Given the description of an element on the screen output the (x, y) to click on. 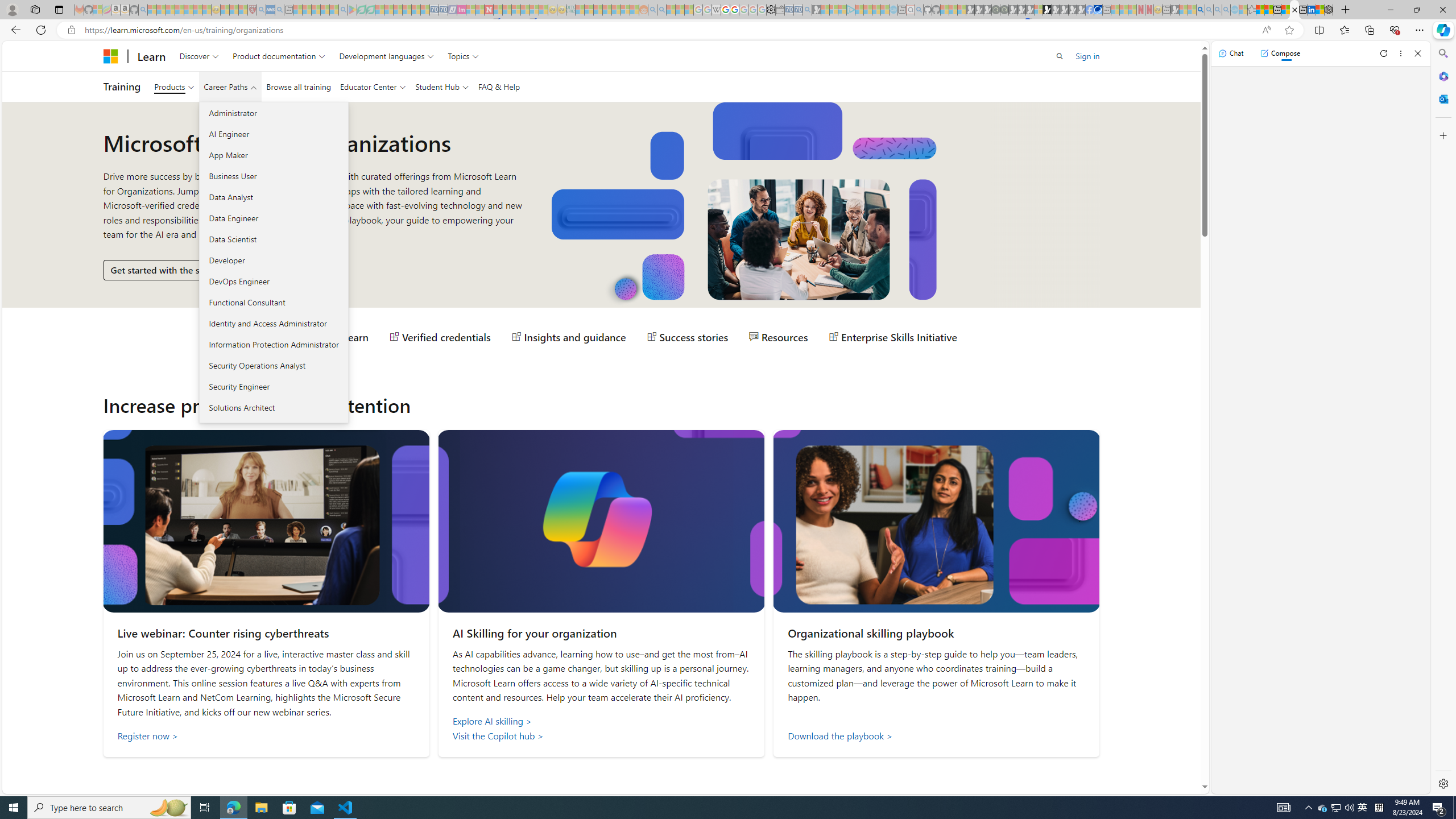
Enterprise Skills Initiative (892, 336)
MSN - Sleeping (1174, 9)
Microsoft Learn for Organizations | Microsoft Learn (1294, 9)
